Given the description of an element on the screen output the (x, y) to click on. 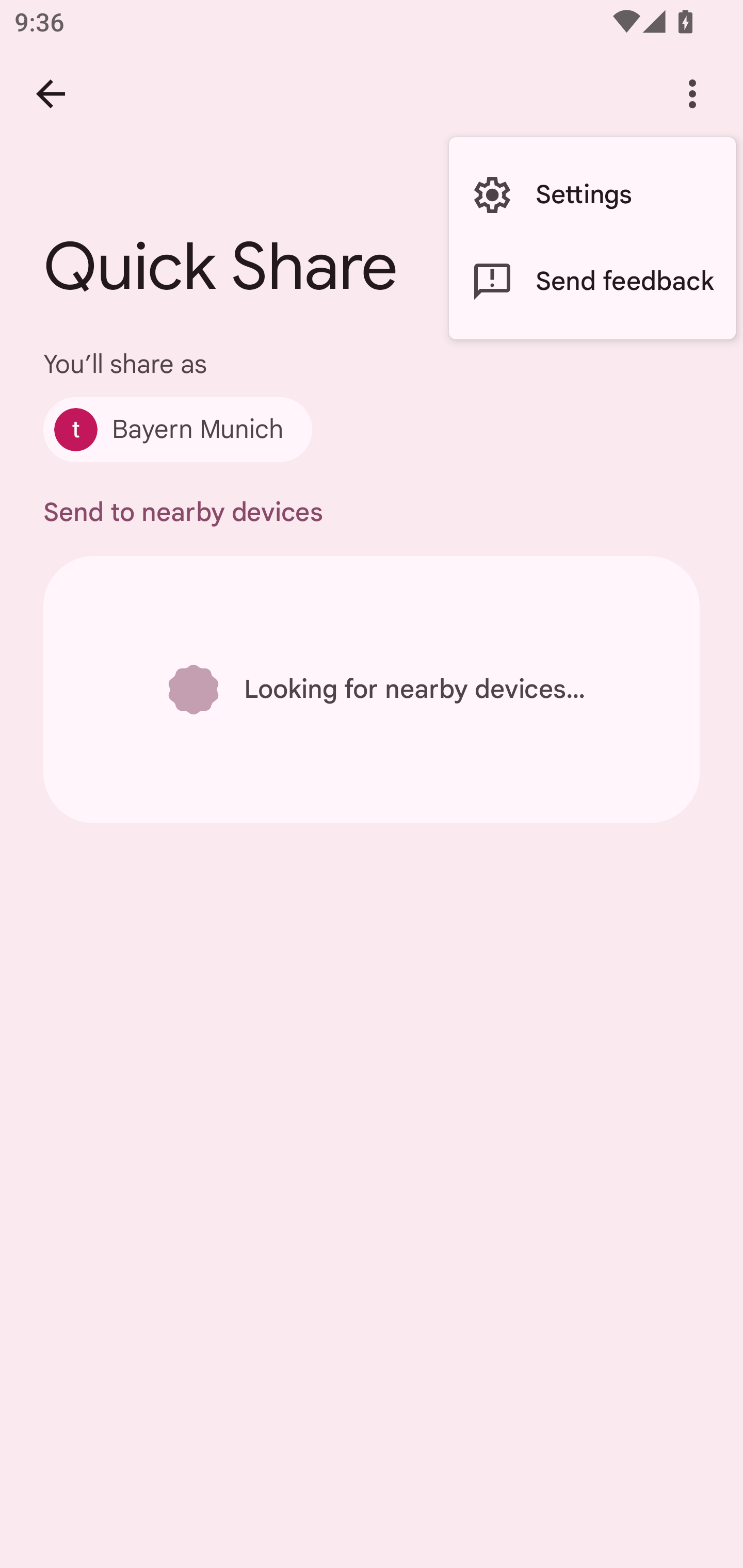
Settings (591, 195)
Send feedback (591, 281)
